Given the description of an element on the screen output the (x, y) to click on. 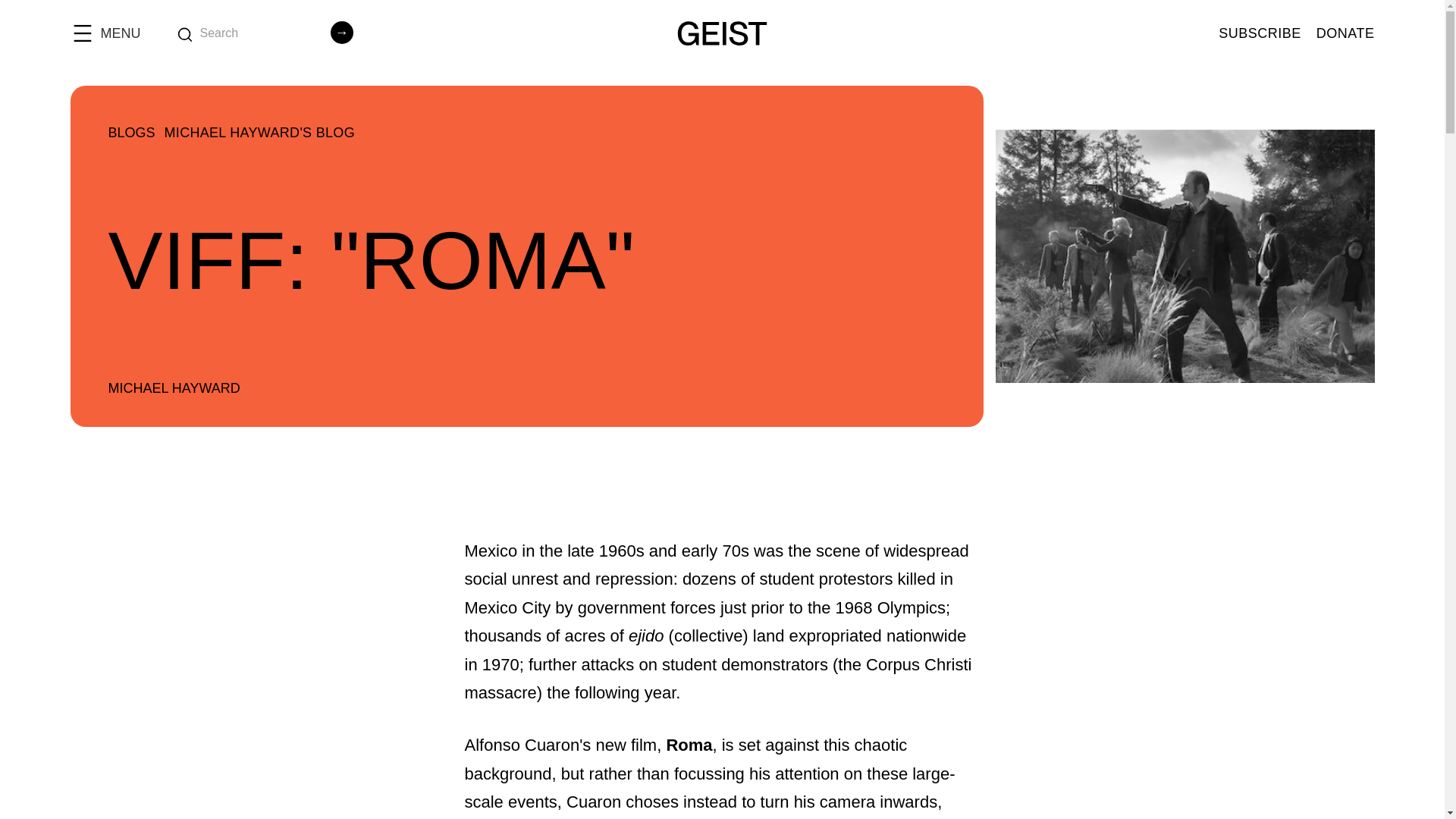
the Corpus Christi massacre (717, 678)
dozens of student protestors killed (809, 578)
SUBSCRIBE (1259, 33)
DONATE (1345, 32)
MICHAEL HAYWARD'S BLOG (259, 132)
BLOGS (130, 132)
ejido (645, 635)
